Given the description of an element on the screen output the (x, y) to click on. 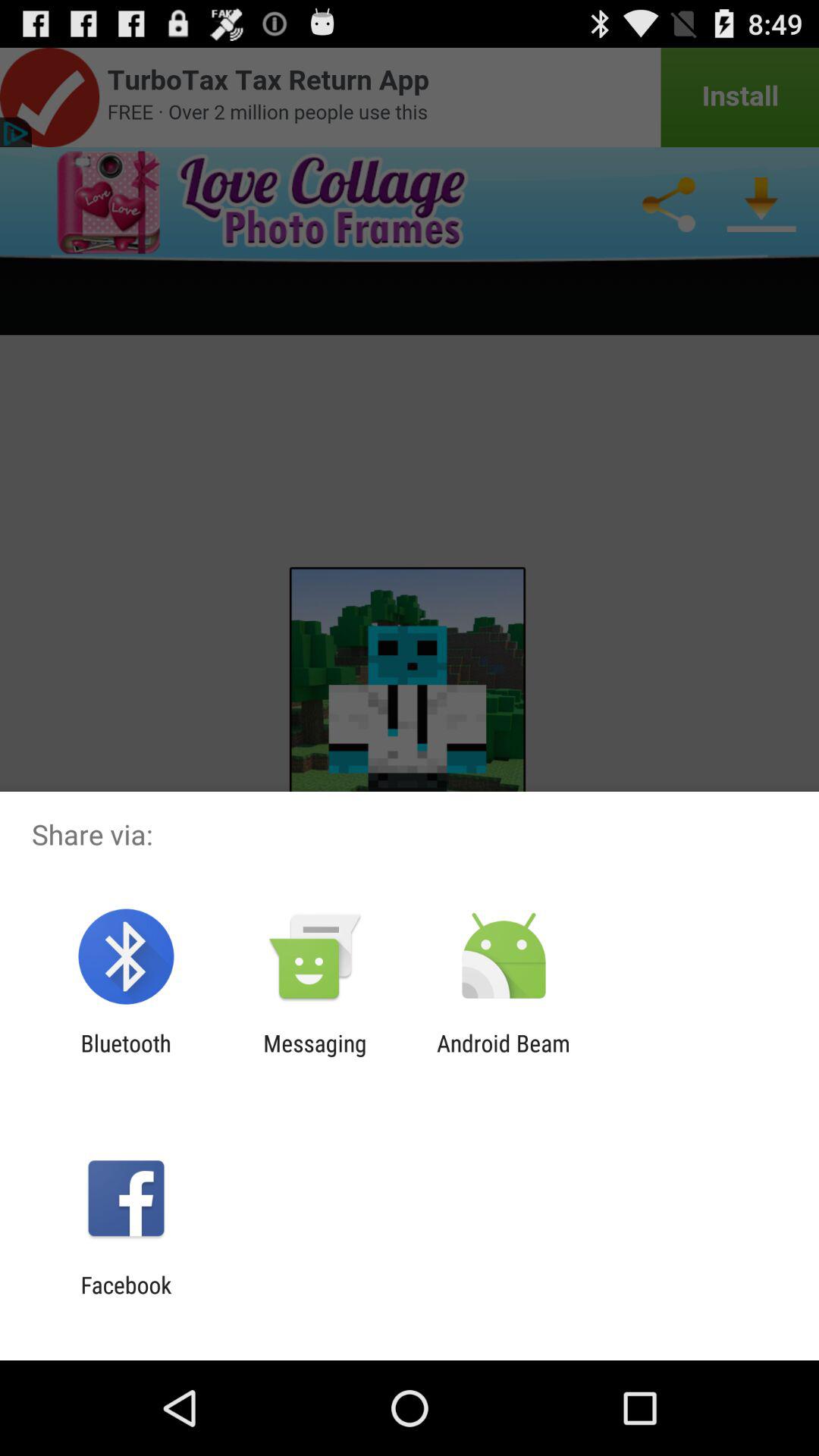
turn on item to the right of the messaging item (503, 1056)
